Given the description of an element on the screen output the (x, y) to click on. 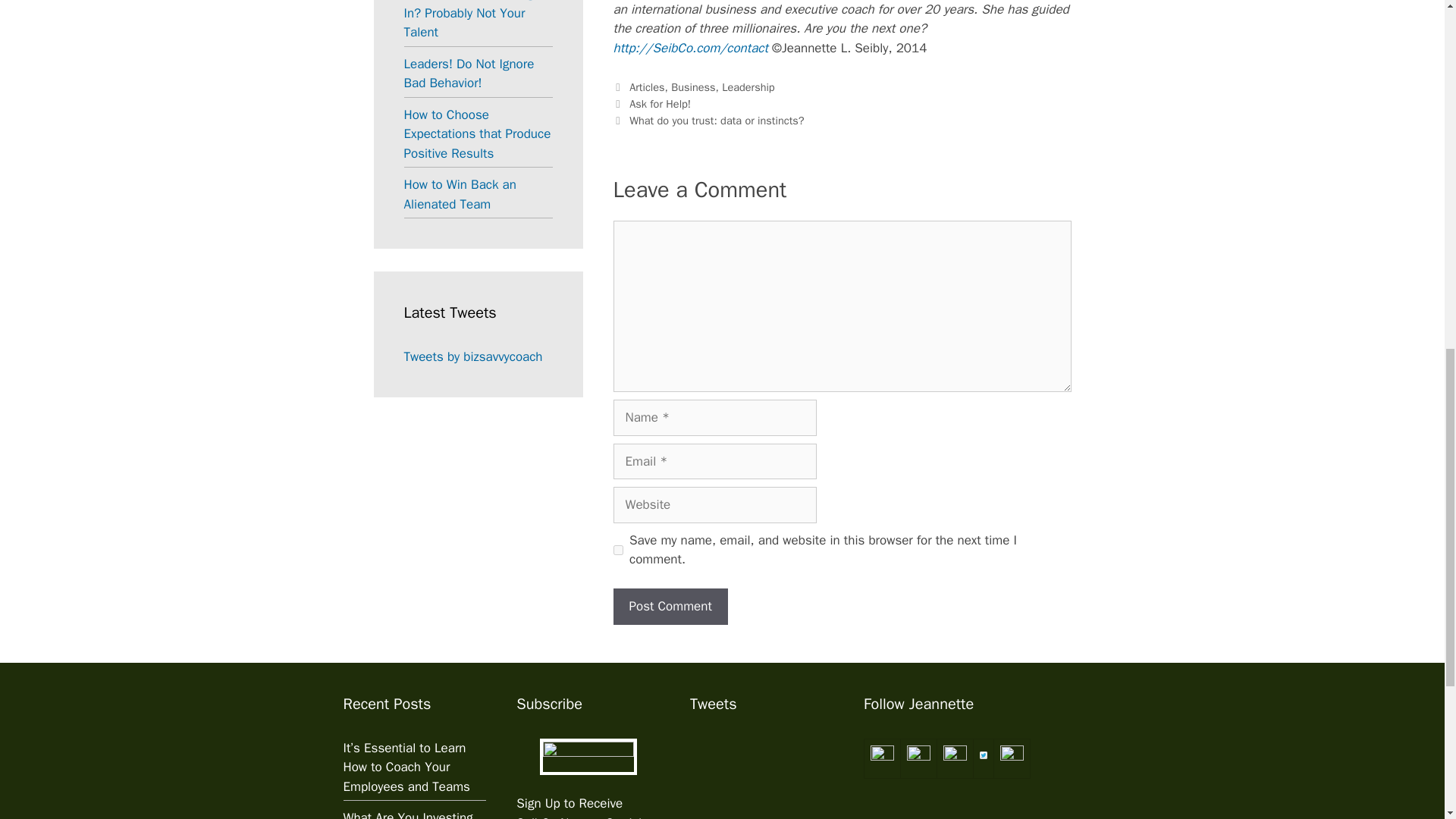
What do you trust: data or instincts? (715, 120)
Ask for Help! (659, 103)
Post Comment (669, 606)
yes (617, 550)
Scroll back to top (1406, 720)
Articles (645, 87)
Leadership (748, 87)
Business (692, 87)
